Given the description of an element on the screen output the (x, y) to click on. 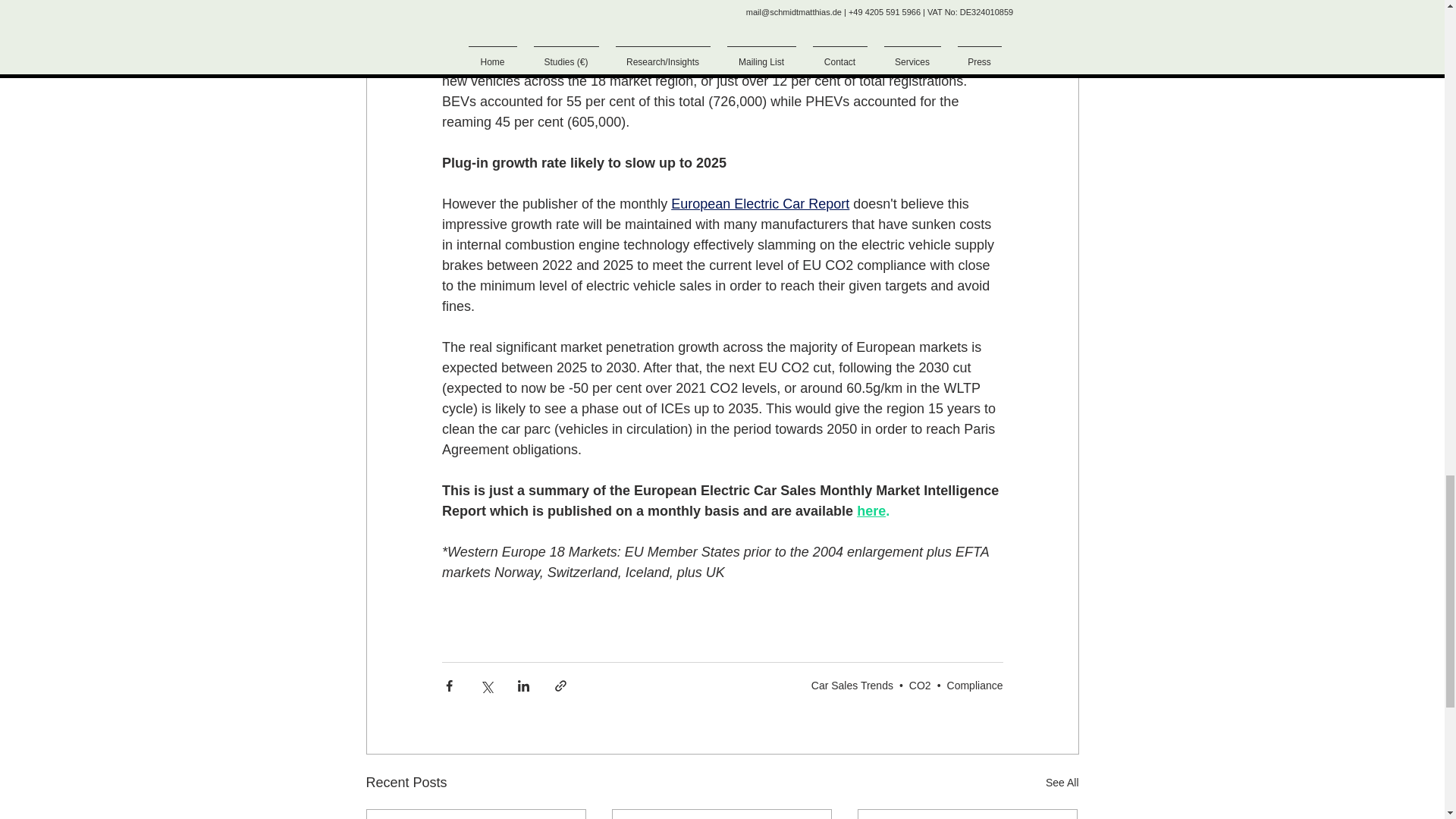
European Electric Car Report (759, 203)
Car Sales Trends (851, 685)
CO2 (919, 685)
here (871, 510)
